Given the description of an element on the screen output the (x, y) to click on. 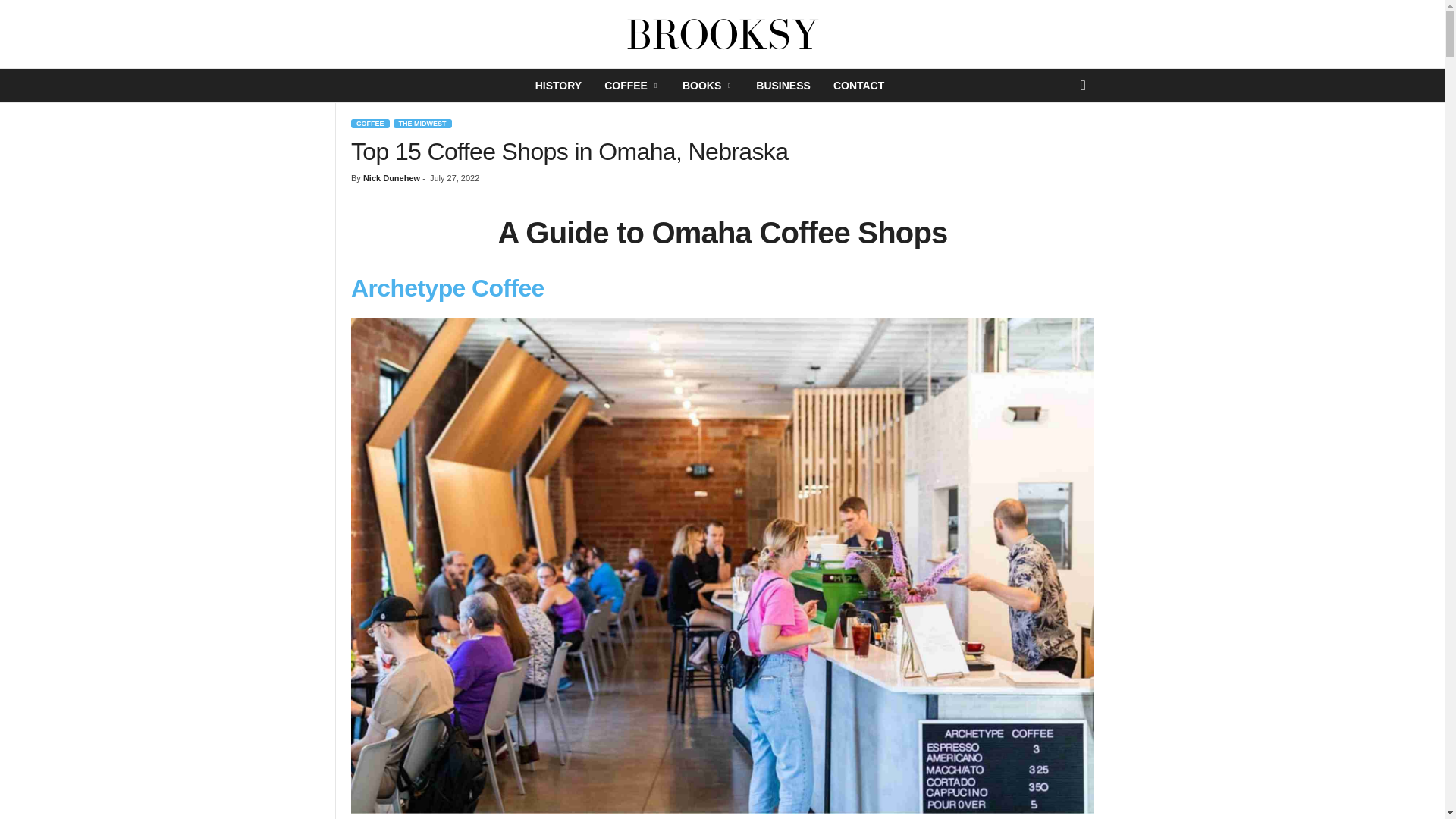
BUSINESS (783, 85)
COFFEE (631, 85)
COFFEE (370, 122)
CONTACT (858, 85)
BOOKS (707, 85)
Archetype Coffee (447, 288)
HISTORY (558, 85)
THE MIDWEST (422, 122)
Nick Dunehew (391, 177)
